Given the description of an element on the screen output the (x, y) to click on. 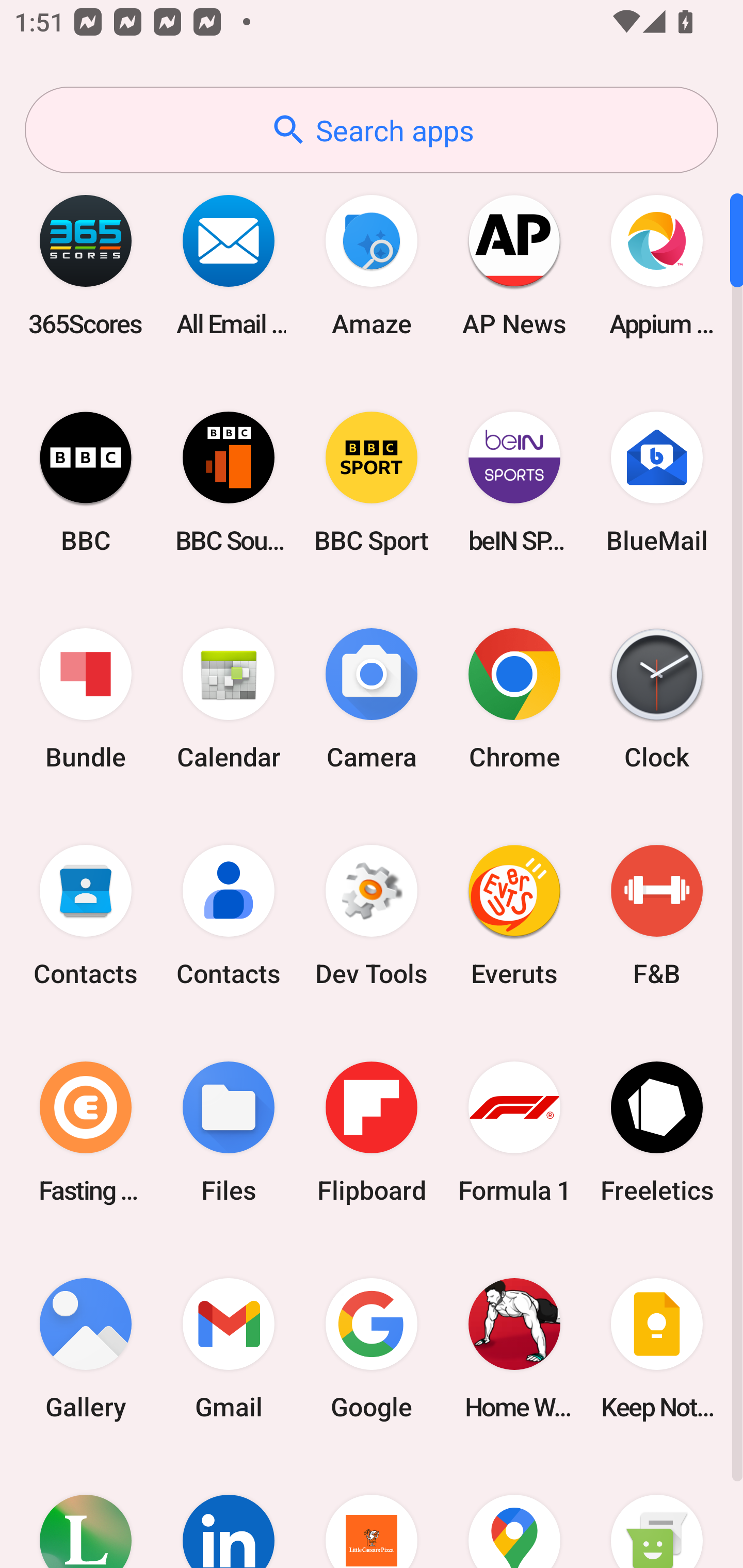
  Search apps (371, 130)
365Scores (85, 264)
All Email Connect (228, 264)
Amaze (371, 264)
AP News (514, 264)
Appium Settings (656, 264)
BBC (85, 482)
BBC Sounds (228, 482)
BBC Sport (371, 482)
beIN SPORTS (514, 482)
BlueMail (656, 482)
Bundle (85, 699)
Calendar (228, 699)
Camera (371, 699)
Chrome (514, 699)
Clock (656, 699)
Contacts (85, 915)
Contacts (228, 915)
Dev Tools (371, 915)
Everuts (514, 915)
F&B (656, 915)
Fasting Coach (85, 1131)
Files (228, 1131)
Flipboard (371, 1131)
Formula 1 (514, 1131)
Freeletics (656, 1131)
Gallery (85, 1348)
Gmail (228, 1348)
Google (371, 1348)
Home Workout (514, 1348)
Keep Notes (656, 1348)
Lifesum (85, 1512)
LinkedIn (228, 1512)
Little Caesars Pizza (371, 1512)
Maps (514, 1512)
Messaging (656, 1512)
